Given the description of an element on the screen output the (x, y) to click on. 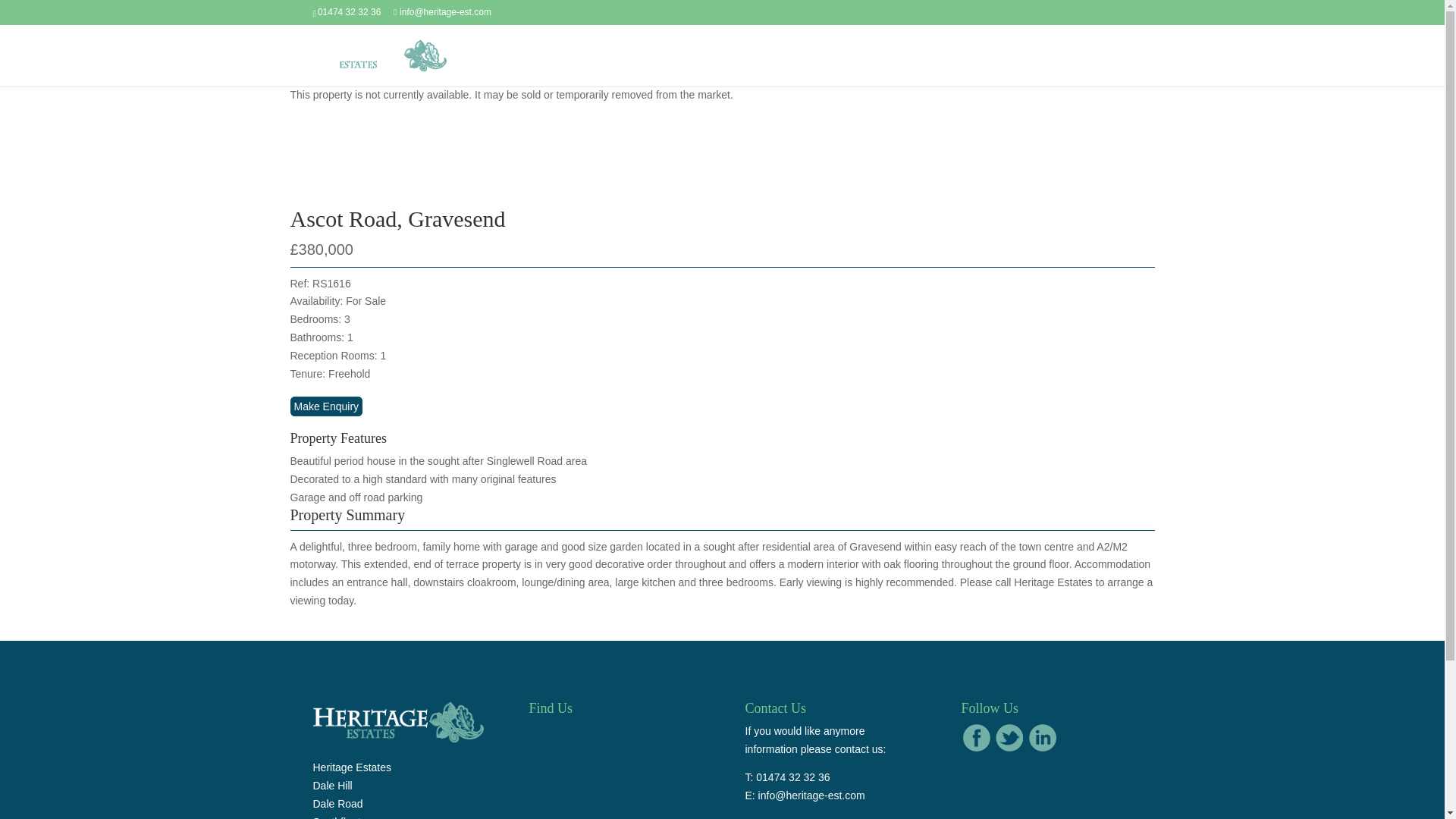
Services (959, 66)
Contact (1112, 66)
Make Enquiry (325, 406)
About Us (896, 66)
Property Search (1036, 66)
